Given the description of an element on the screen output the (x, y) to click on. 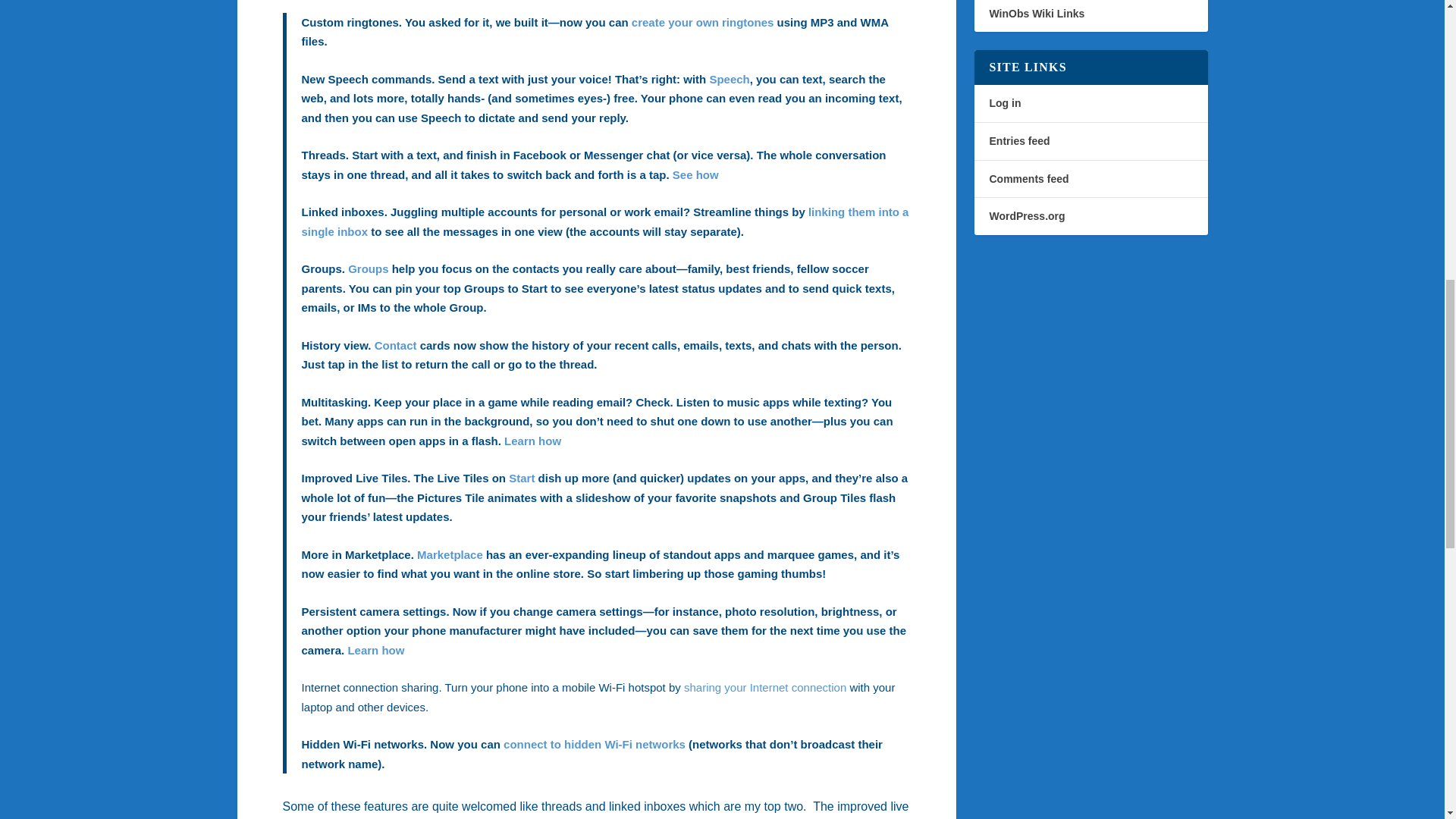
Start (521, 477)
Groups (367, 268)
linking them into a single inbox (604, 221)
Learn how (531, 440)
See how (695, 174)
Learn how (375, 649)
connect to hidden Wi-Fi networks (594, 744)
Speech (729, 78)
sharing your Internet connection (764, 686)
Contact (395, 345)
